Given the description of an element on the screen output the (x, y) to click on. 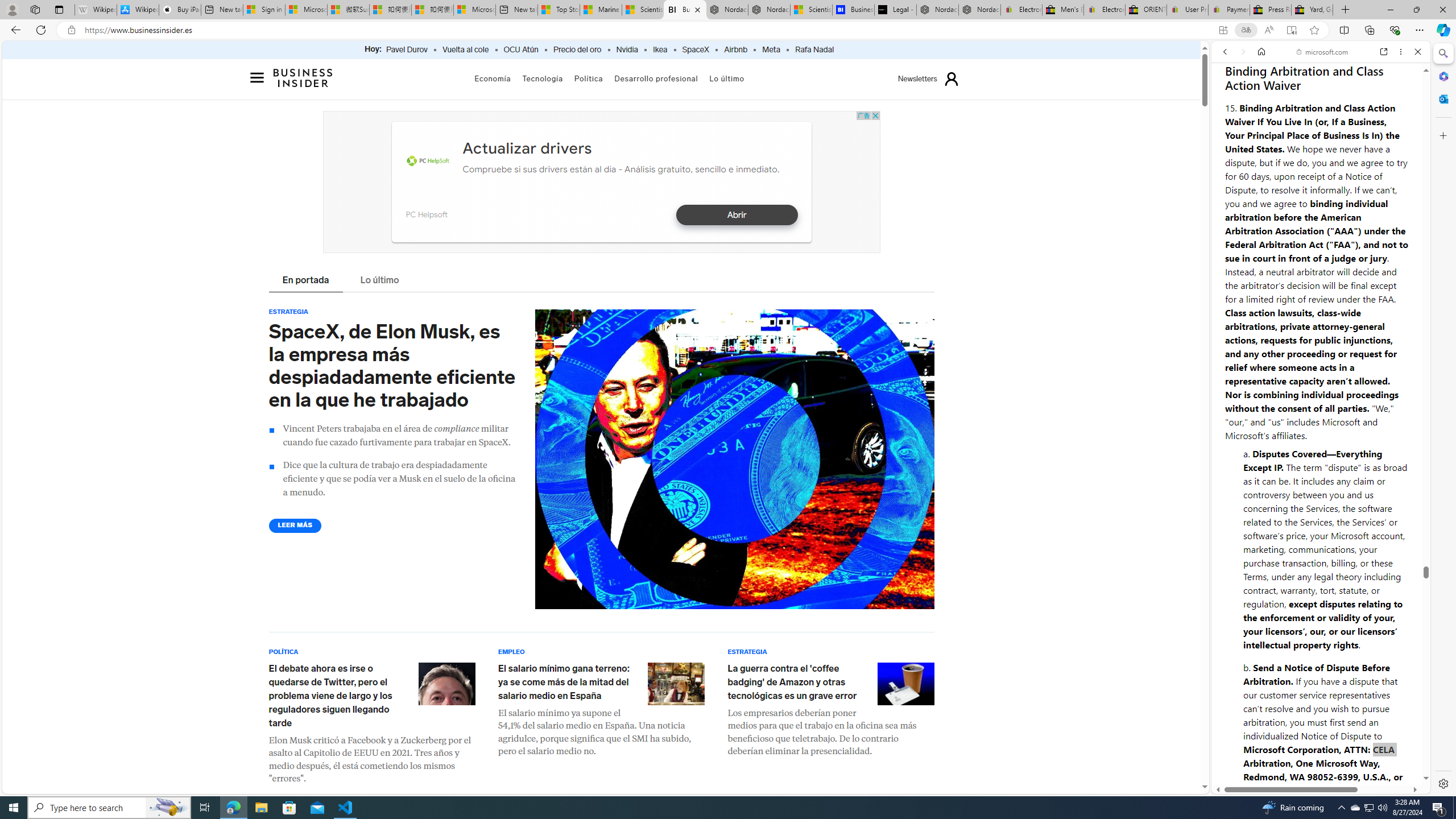
Nordace - Summer Adventures 2024 (937, 9)
Web scope (1230, 102)
Desarrollo profesional (656, 78)
Open link in new tab (1383, 51)
Microsoft account | Account Checkup (474, 9)
Nvidia (626, 49)
